Given the description of an element on the screen output the (x, y) to click on. 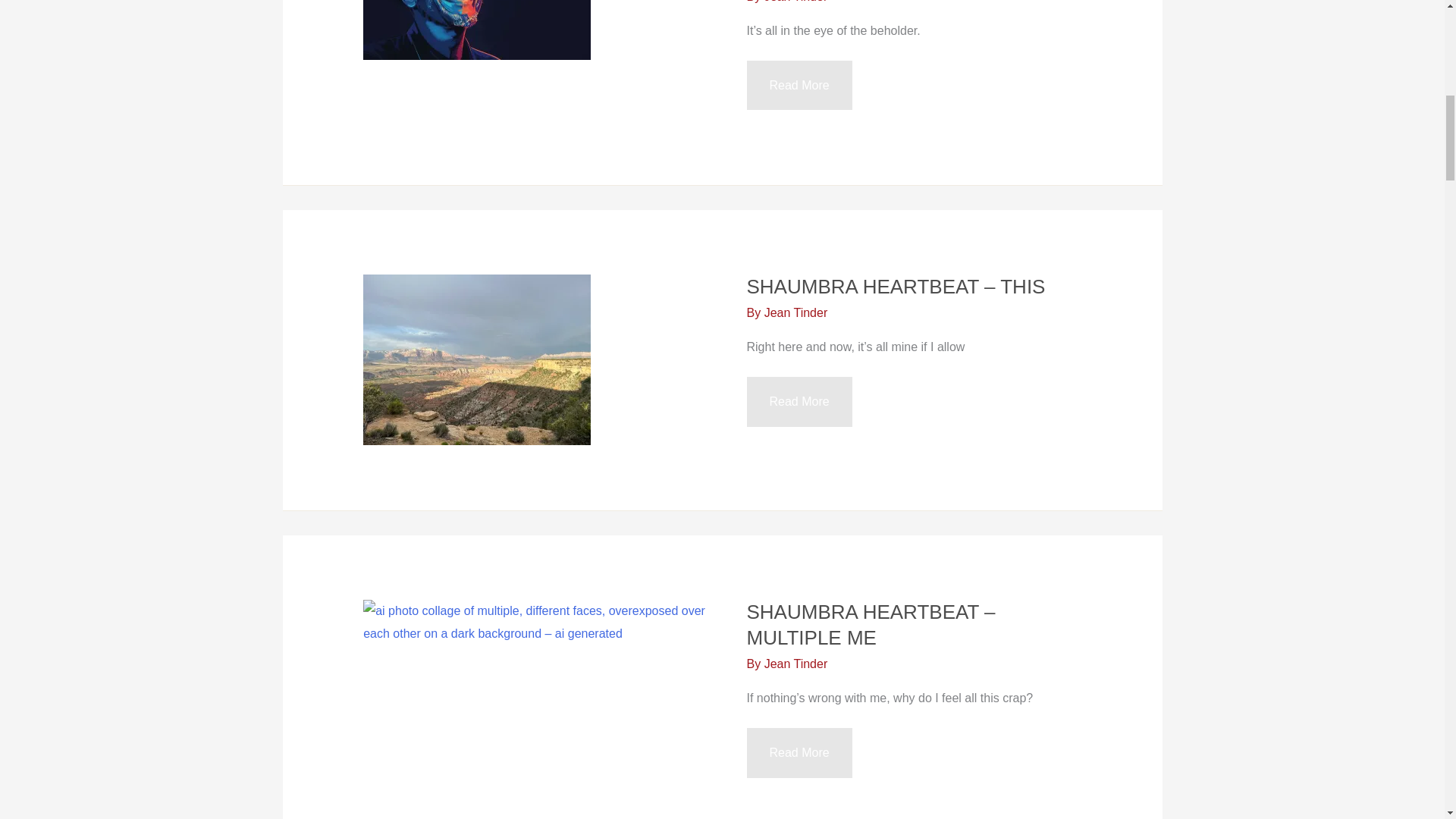
Jean Tinder (796, 663)
View all posts by Jean Tinder (796, 663)
View all posts by Jean Tinder (796, 312)
View all posts by Jean Tinder (796, 1)
Jean Tinder (796, 312)
Jean Tinder (796, 1)
